Given the description of an element on the screen output the (x, y) to click on. 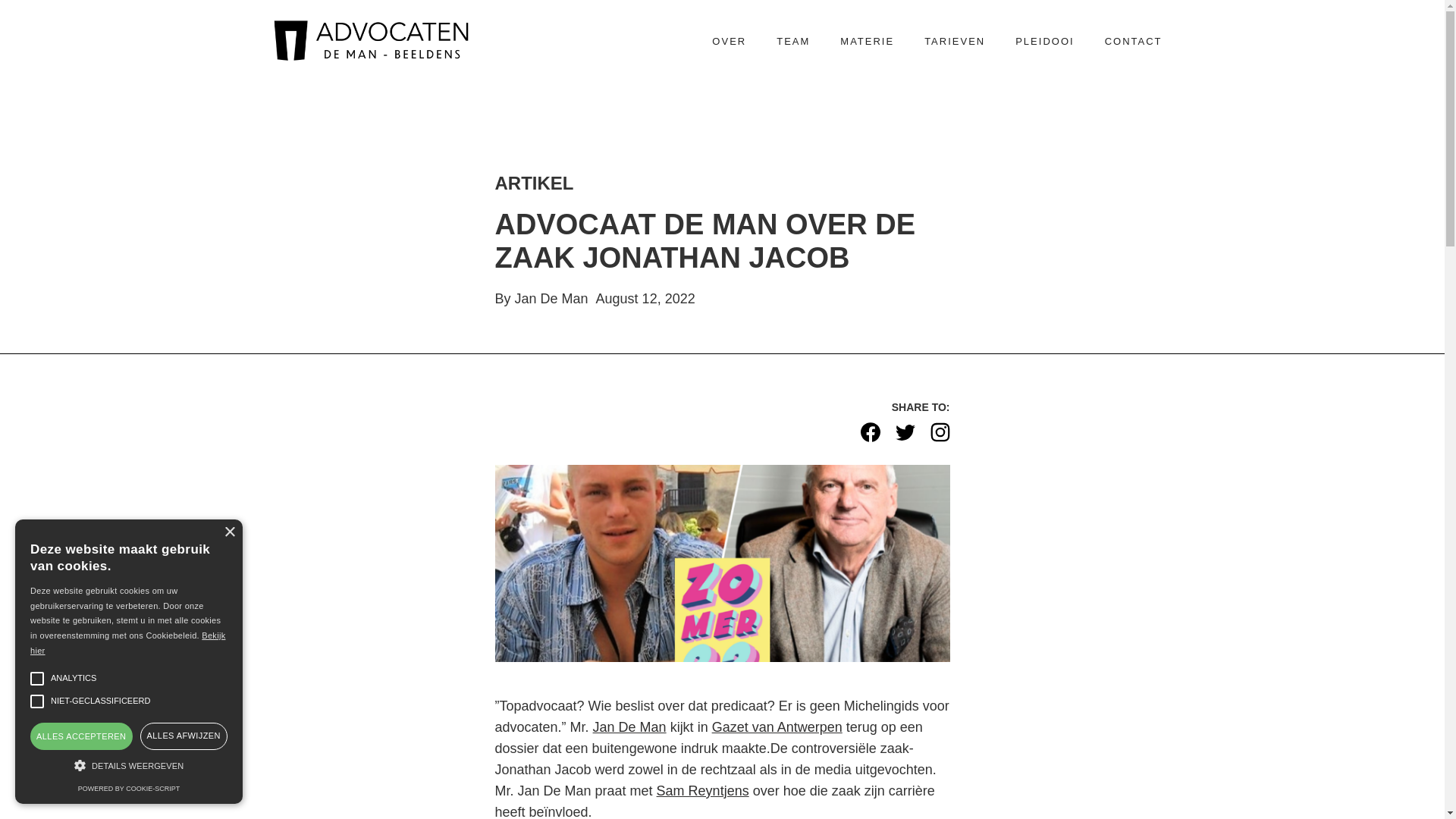
Gazet van Antwerpen Element type: text (777, 726)
OVER Element type: text (728, 41)
CONTACT Element type: text (1133, 41)
Sam Reyntjens Element type: text (702, 790)
PLEIDOOI Element type: text (1044, 41)
TARIEVEN Element type: text (954, 41)
MATERIE Element type: text (867, 41)
TEAM Element type: text (793, 41)
POWERED BY COOKIE-SCRIPT Element type: text (128, 788)
Jan De Man Element type: text (629, 726)
Bekijk hier Element type: text (127, 642)
